Given the description of an element on the screen output the (x, y) to click on. 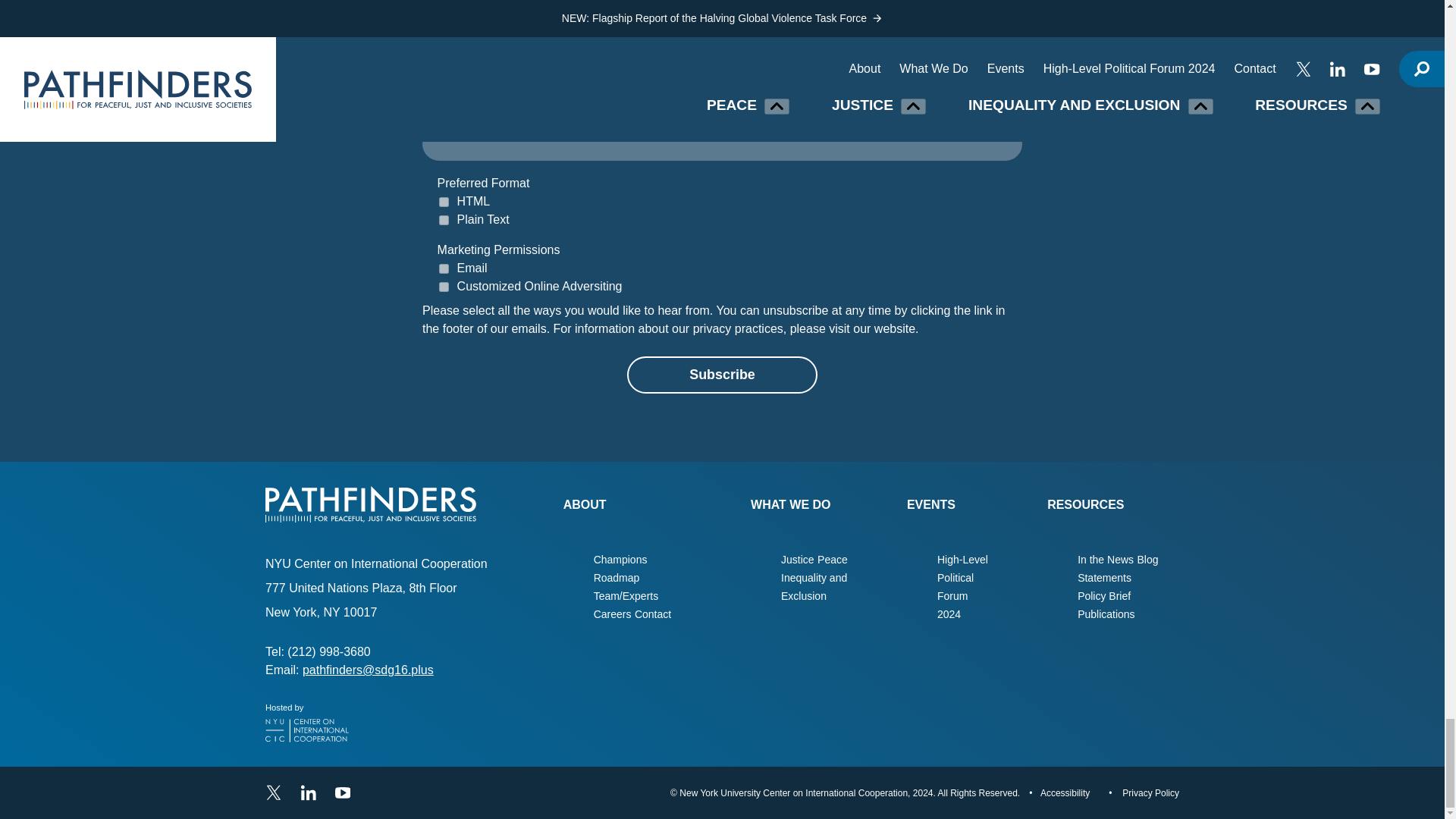
Email (443, 268)
Plain Text (443, 220)
Customized Online Adversiting (443, 286)
HTML (443, 202)
Subscribe (721, 374)
NYU Pathfinders logo (370, 504)
